Given the description of an element on the screen output the (x, y) to click on. 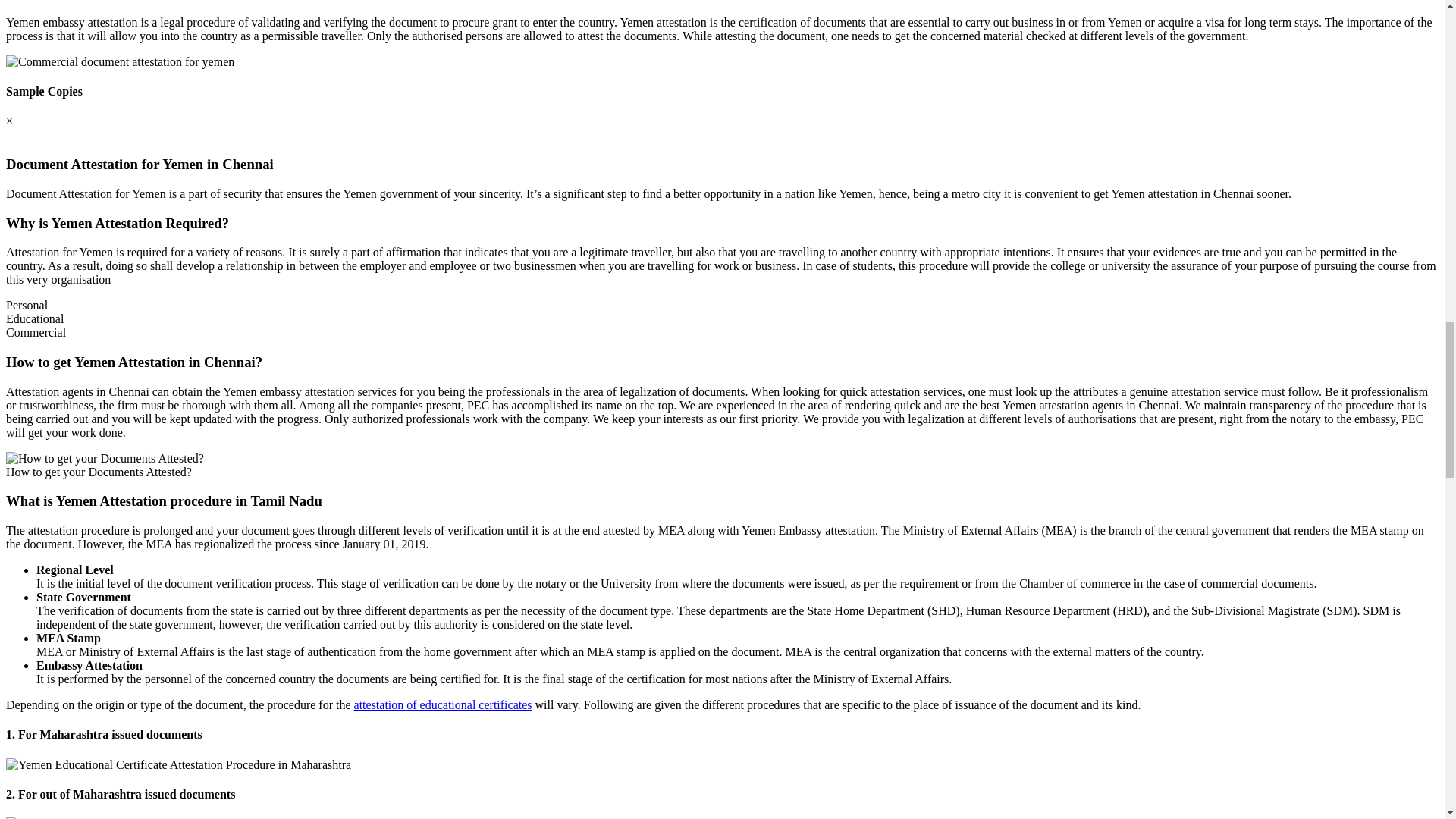
Commercial Document Attestation for Yemen (119, 61)
